Given the description of an element on the screen output the (x, y) to click on. 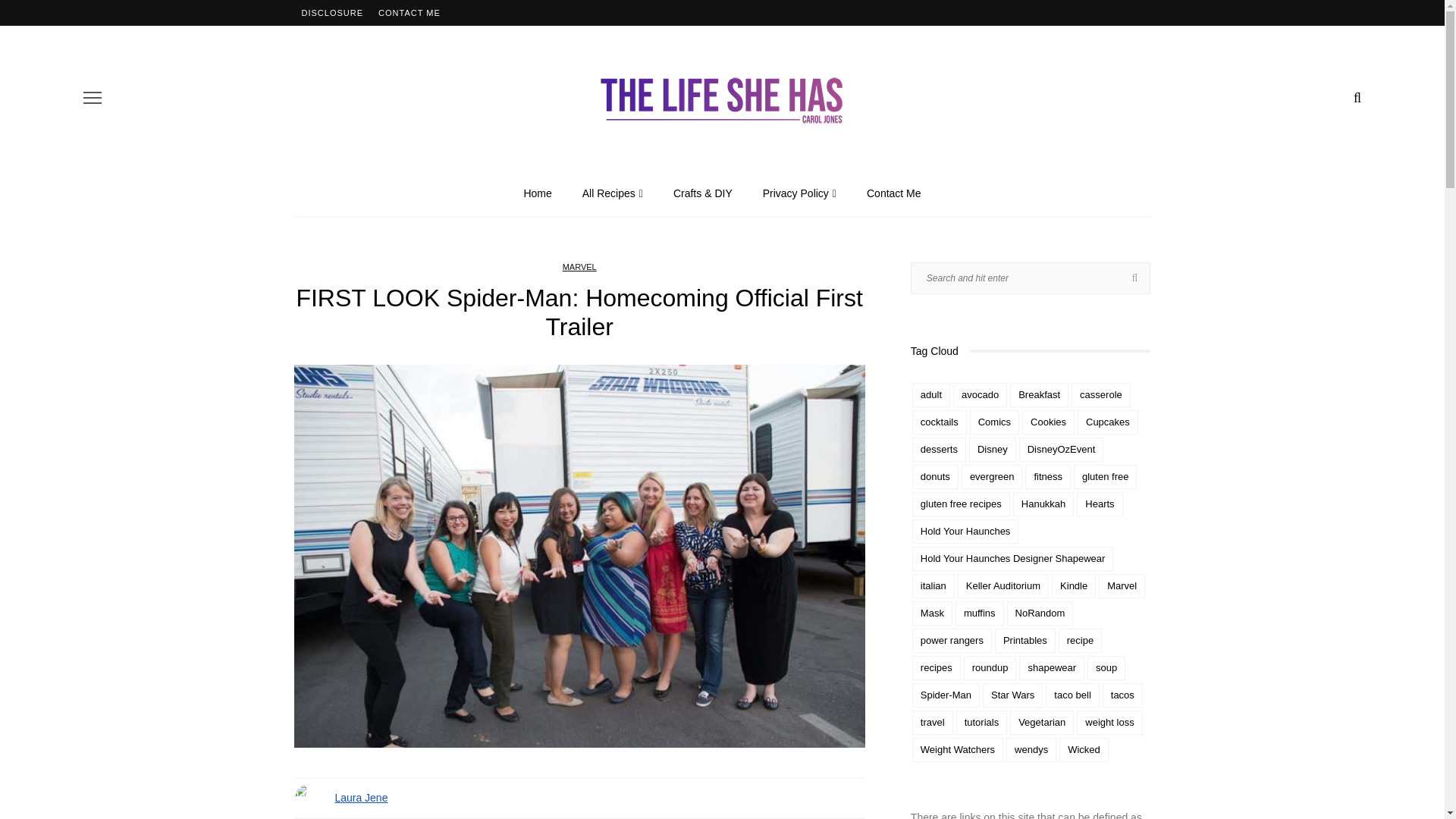
off canvas button (91, 97)
FIRST LOOK Spider-Man: Homecoming Official First Trailer (579, 554)
Post by Laura Jene (360, 797)
